Given the description of an element on the screen output the (x, y) to click on. 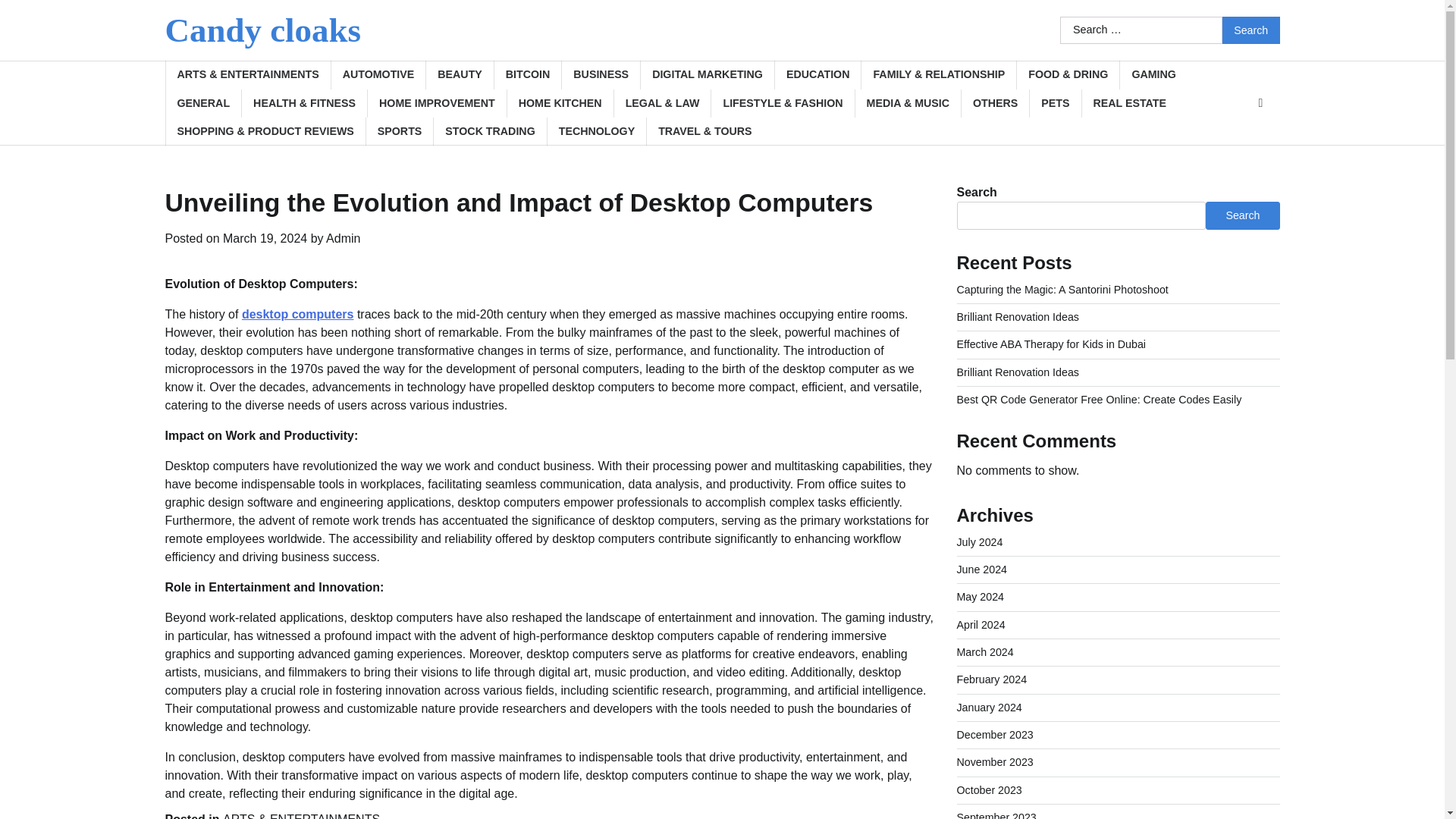
EDUCATION (817, 74)
OTHERS (994, 103)
REAL ESTATE (1129, 103)
Candy cloaks (263, 30)
Admin (342, 237)
March 19, 2024 (264, 237)
DIGITAL MARKETING (707, 74)
View Random Post (1260, 102)
HOME IMPROVEMENT (436, 103)
GENERAL (203, 103)
Search (1251, 30)
Search (1251, 30)
BUSINESS (600, 74)
AUTOMOTIVE (378, 74)
PETS (1054, 103)
